Given the description of an element on the screen output the (x, y) to click on. 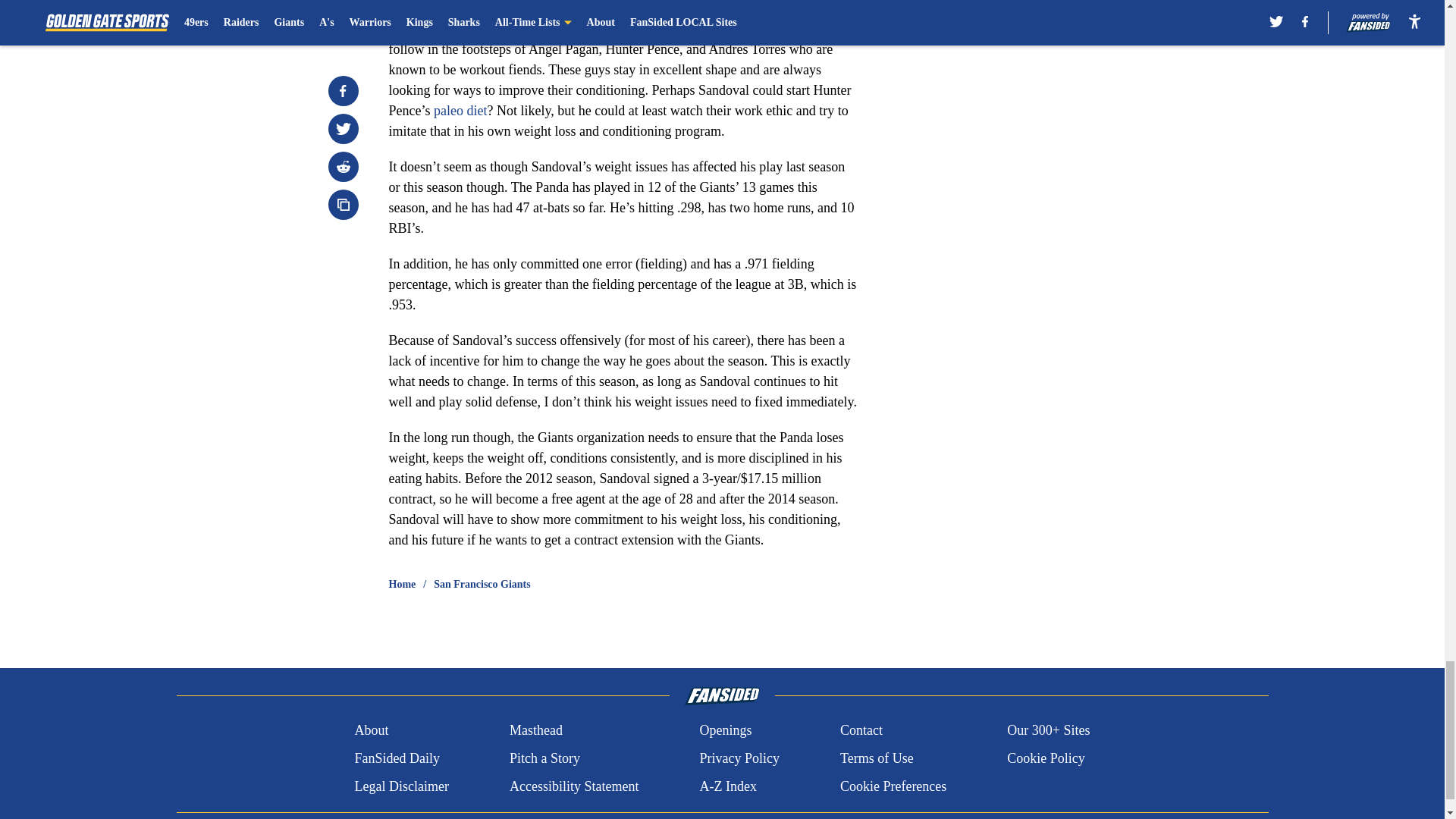
paleo diet (459, 110)
Contact (861, 730)
Masthead (535, 730)
FanSided Daily (396, 758)
Home (401, 584)
About (370, 730)
Openings (724, 730)
San Francisco Giants (482, 584)
